Given the description of an element on the screen output the (x, y) to click on. 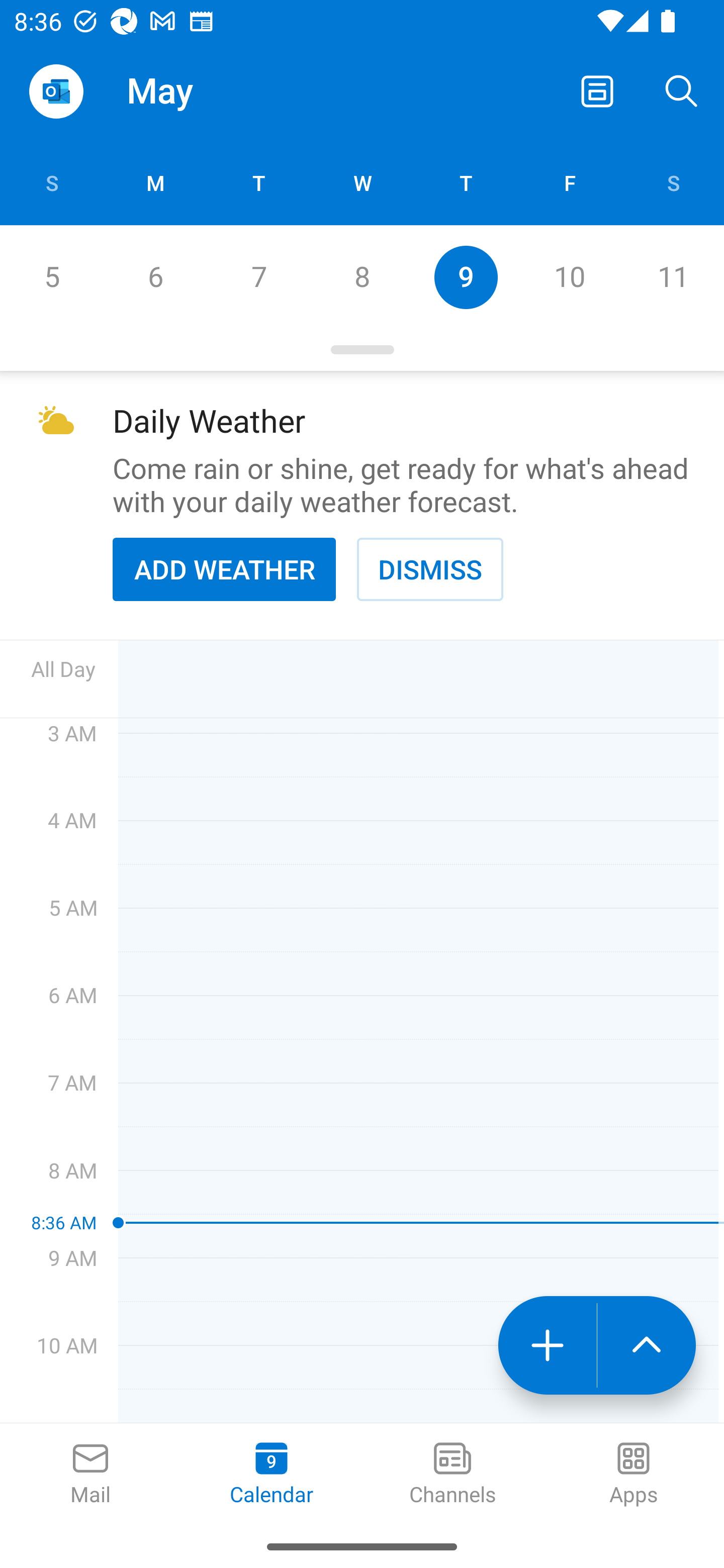
May May 2024, day picker (203, 90)
Switch away from Day view (597, 90)
Search, ,  (681, 90)
Open Navigation Drawer (55, 91)
5 Sunday, May 5 (51, 277)
6 Monday, May 6 (155, 277)
7 Tuesday, May 7 (258, 277)
8 Wednesday, May 8 (362, 277)
9 Thursday, May 9, today, Selected (465, 277)
10 Friday, May 10 (569, 277)
11 Saturday, May 11 (672, 277)
ADD WEATHER (224, 568)
DISMISS (429, 568)
New event (547, 1344)
launch the extended action menu (646, 1344)
Mail (90, 1474)
Channels (452, 1474)
Apps (633, 1474)
